Given the description of an element on the screen output the (x, y) to click on. 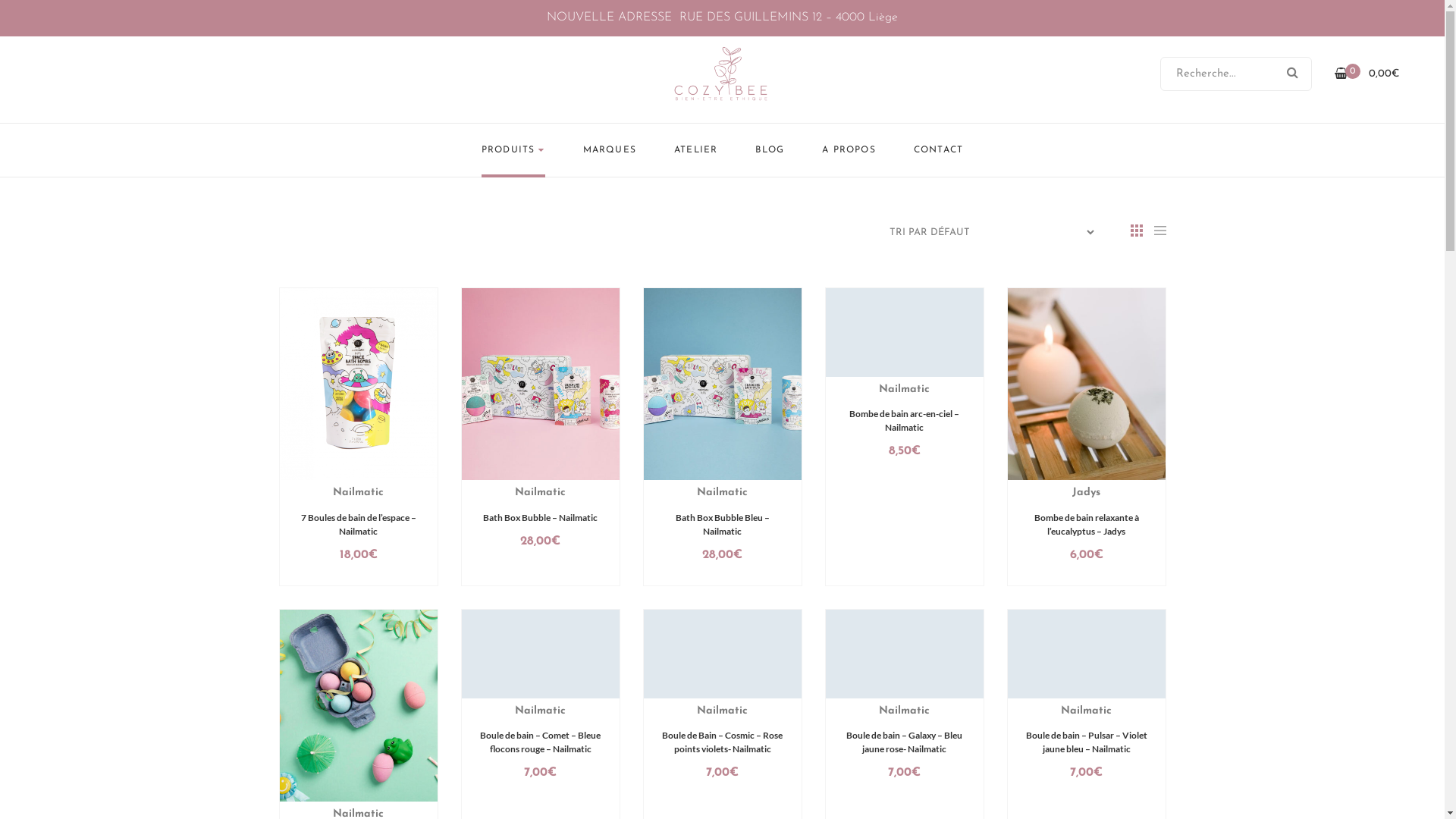
Nailmatic Element type: text (721, 710)
MARQUES Element type: text (609, 149)
0 Element type: text (1340, 74)
Nailmatic Element type: text (357, 492)
Nailmatic Element type: text (539, 710)
PRODUITS Element type: text (513, 149)
Nailmatic Element type: text (903, 710)
Jadys Element type: text (1086, 492)
Nailmatic Element type: text (903, 389)
ATELIER Element type: text (695, 149)
Nailmatic Element type: text (539, 492)
BLOG Element type: text (769, 149)
Nailmatic Element type: text (721, 492)
Nailmatic Element type: text (1085, 710)
CONTACT Element type: text (938, 149)
A PROPOS Element type: text (848, 149)
